Given the description of an element on the screen output the (x, y) to click on. 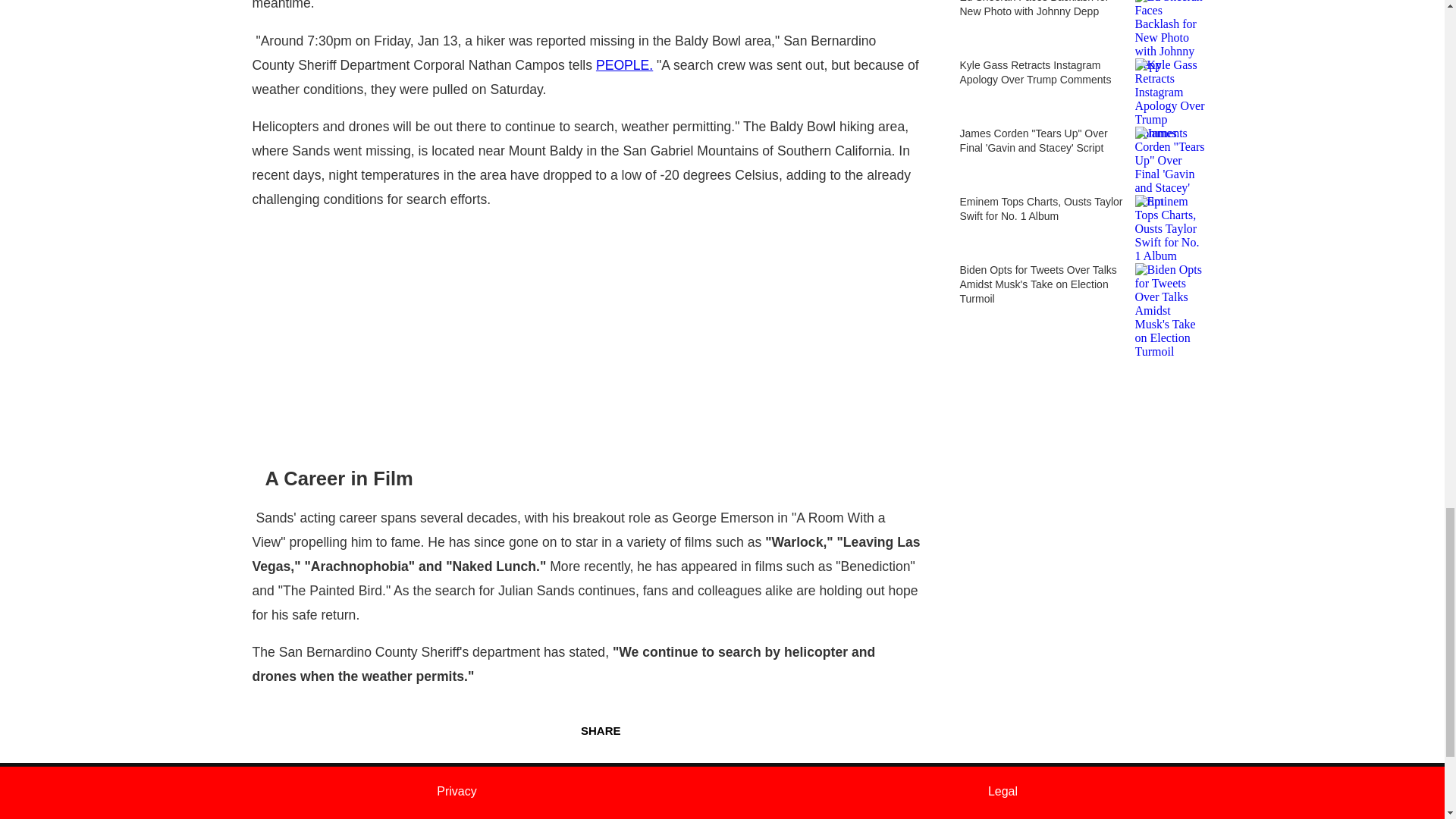
PEOPLE. (623, 64)
